Given the description of an element on the screen output the (x, y) to click on. 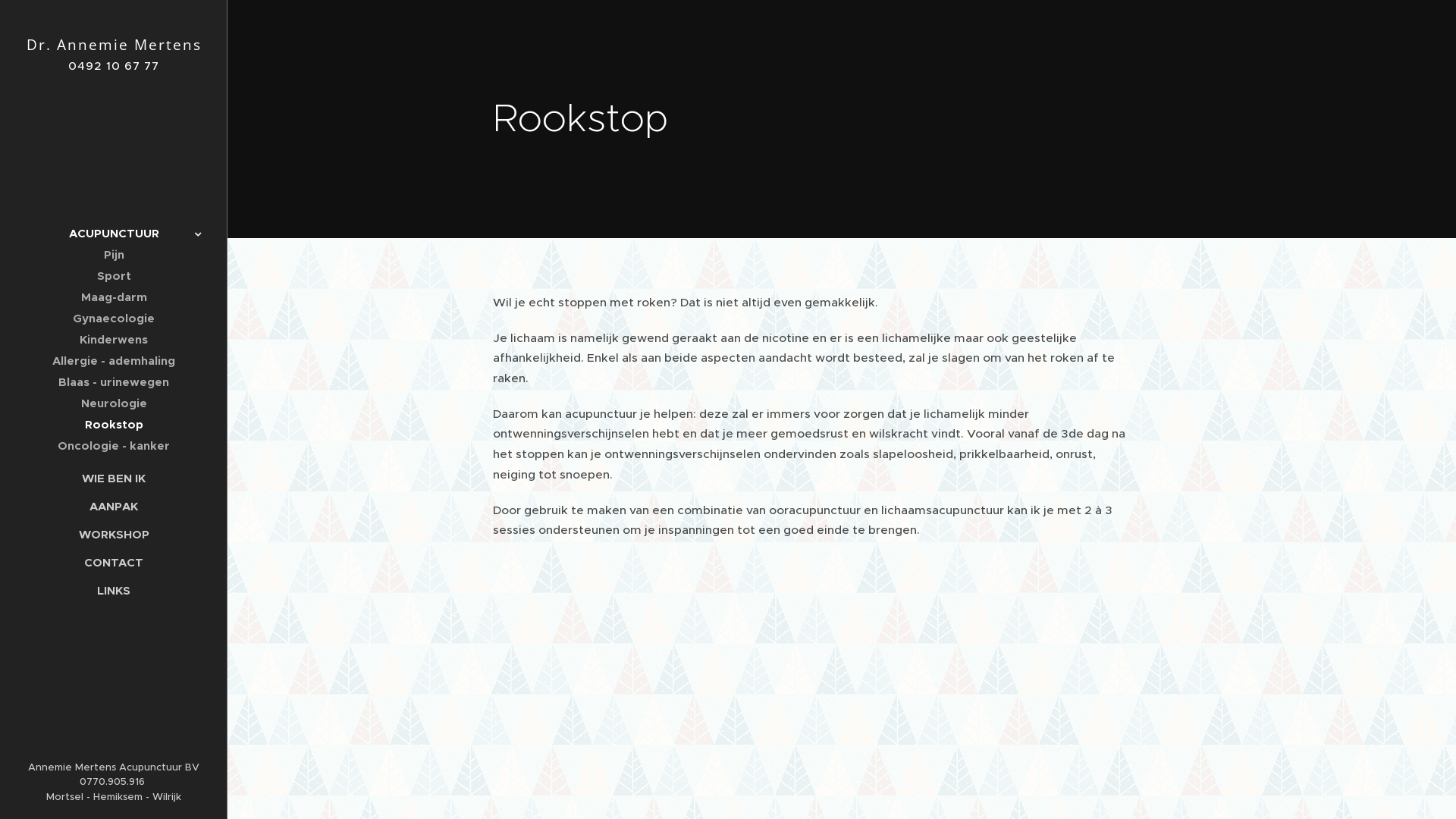
WIE BEN IK Element type: text (113, 477)
Pijn Element type: text (113, 254)
ACUPUNCTUUR Element type: text (113, 232)
Kinderwens Element type: text (113, 339)
Sport Element type: text (113, 275)
Oncologie - kanker Element type: text (113, 445)
Dr. Annemie Mertens Element type: text (113, 43)
AANPAK Element type: text (113, 505)
WORKSHOP Element type: text (113, 533)
Neurologie Element type: text (113, 403)
LINKS Element type: text (113, 590)
Maag-darm Element type: text (113, 297)
Allergie - ademhaling Element type: text (113, 360)
Gynaecologie Element type: text (113, 318)
CONTACT Element type: text (113, 562)
Blaas - urinewegen Element type: text (113, 382)
Rookstop Element type: text (113, 424)
